Given the description of an element on the screen output the (x, y) to click on. 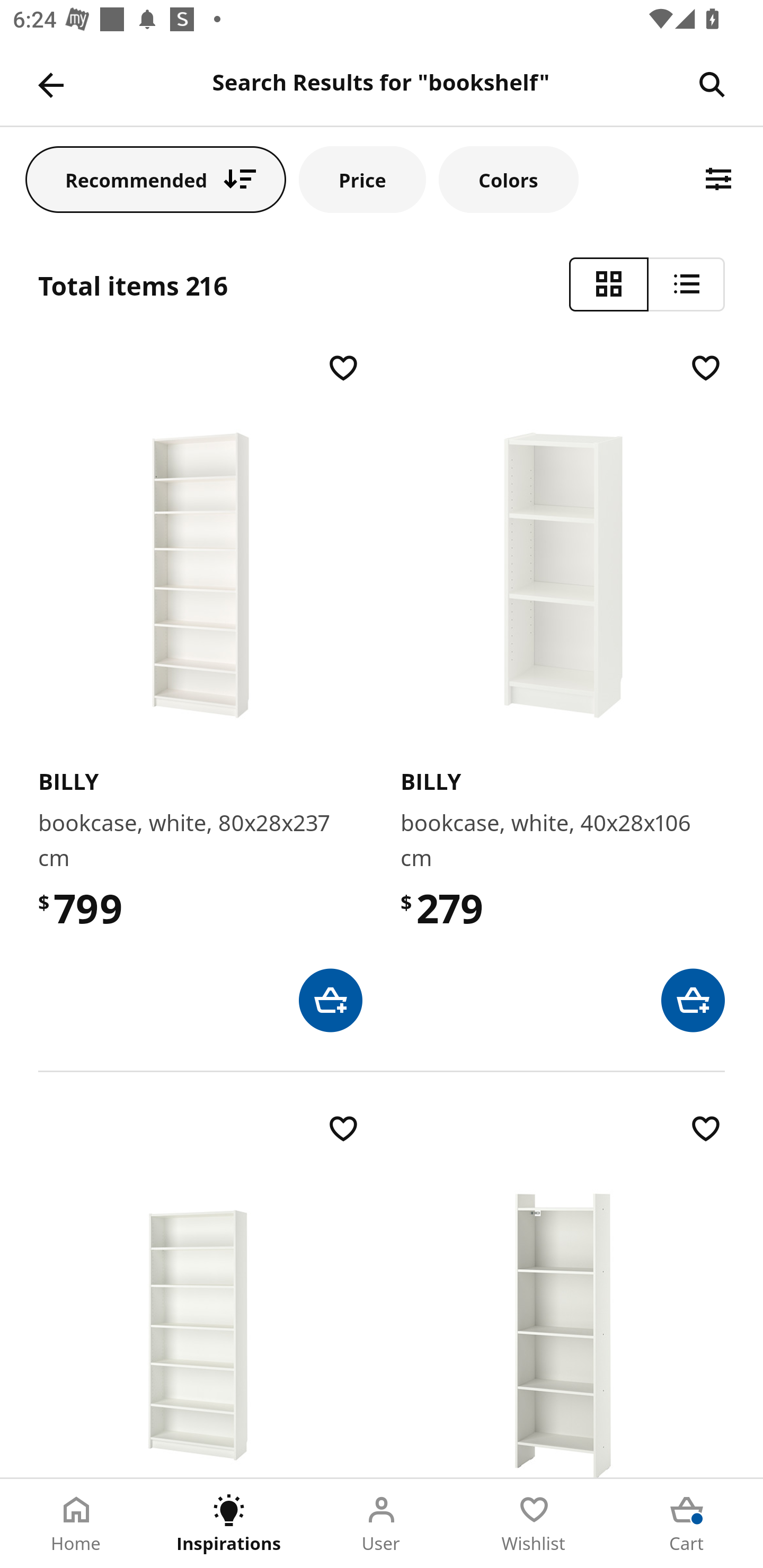
Recommended (155, 179)
Price (362, 179)
Colors (508, 179)
​B​I​L​L​Y​
bookcase, white, 80x28x237 cm
$
799 (200, 690)
​B​I​L​L​Y​
bookcase, white, 40x28x106 cm
$
279 (562, 690)
Home
Tab 1 of 5 (76, 1522)
Inspirations
Tab 2 of 5 (228, 1522)
User
Tab 3 of 5 (381, 1522)
Wishlist
Tab 4 of 5 (533, 1522)
Cart
Tab 5 of 5 (686, 1522)
